Given the description of an element on the screen output the (x, y) to click on. 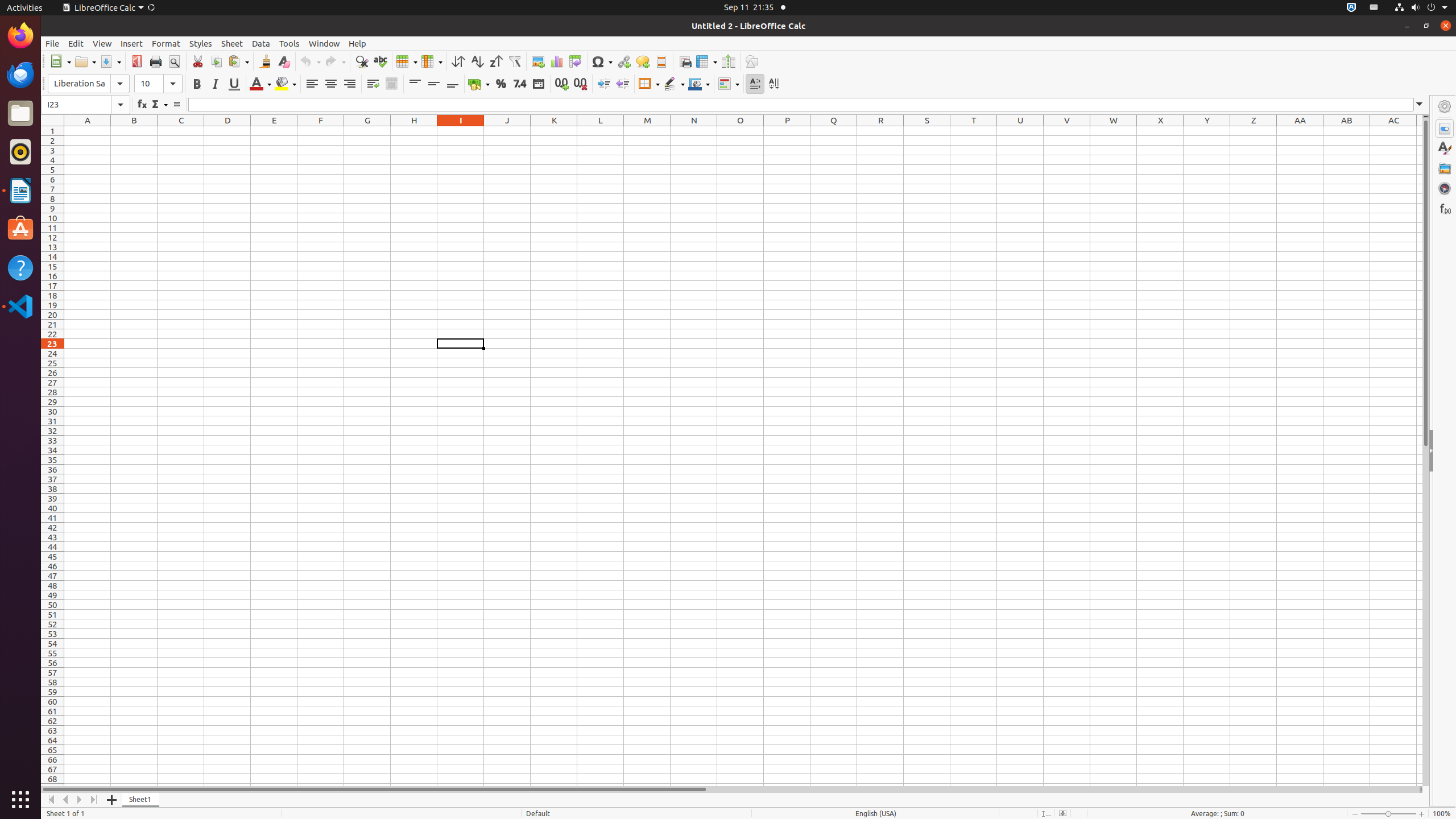
A1 Element type: table-cell (87, 130)
Navigator Element type: radio-button (1444, 188)
Expand Formula Bar Element type: push-button (1419, 104)
Activities Element type: label (24, 7)
Font Size Element type: text (148, 83)
